Given the description of an element on the screen output the (x, y) to click on. 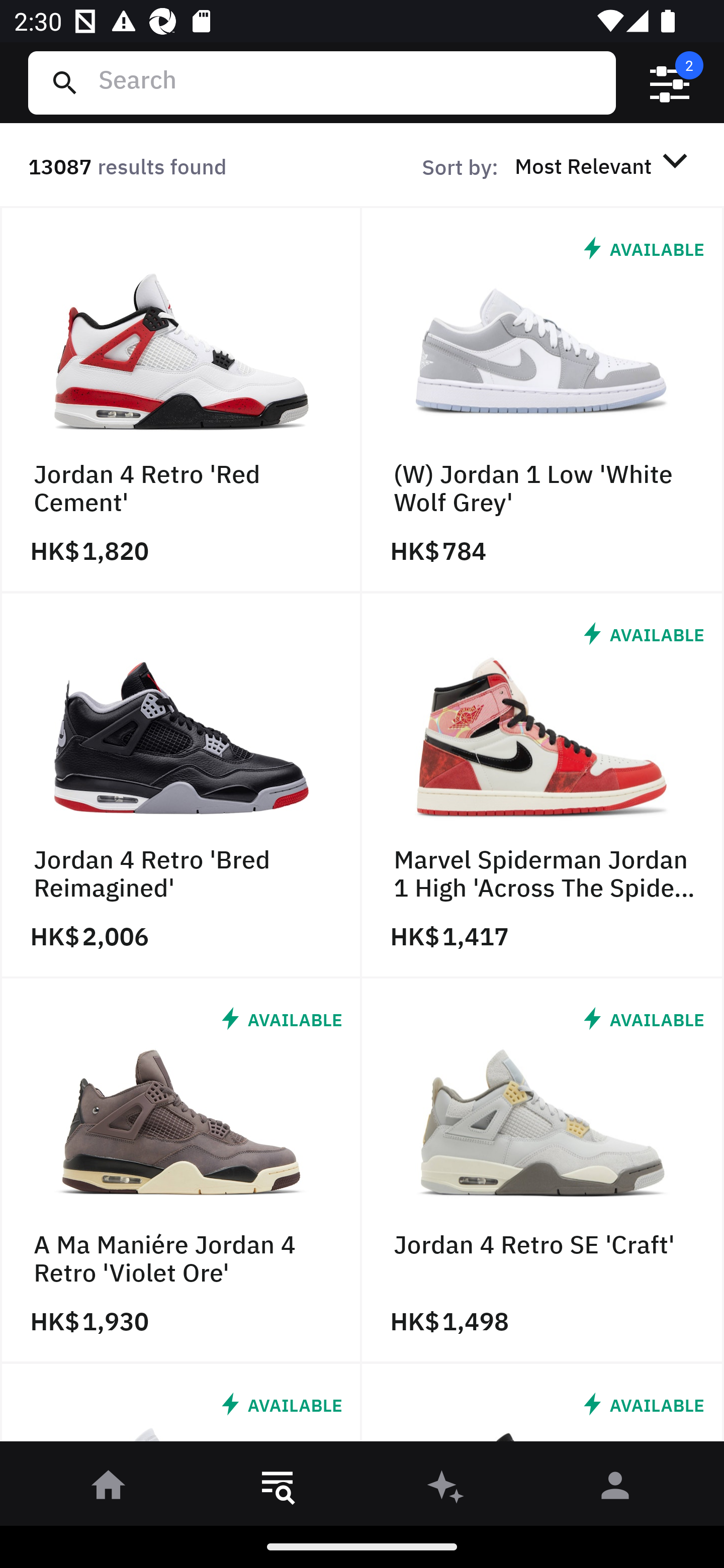
Search (349, 82)
 (669, 82)
Most Relevant  (604, 165)
Jordan 4 Retro 'Red Cement' HK$ 1,820 (181, 399)
Jordan 4 Retro 'Bred Reimagined' HK$ 2,006 (181, 785)
 AVAILABLE Jordan 4 Retro SE 'Craft' HK$ 1,498 (543, 1171)
󰋜 (108, 1488)
󱎸 (277, 1488)
󰫢 (446, 1488)
󰀄 (615, 1488)
